Given the description of an element on the screen output the (x, y) to click on. 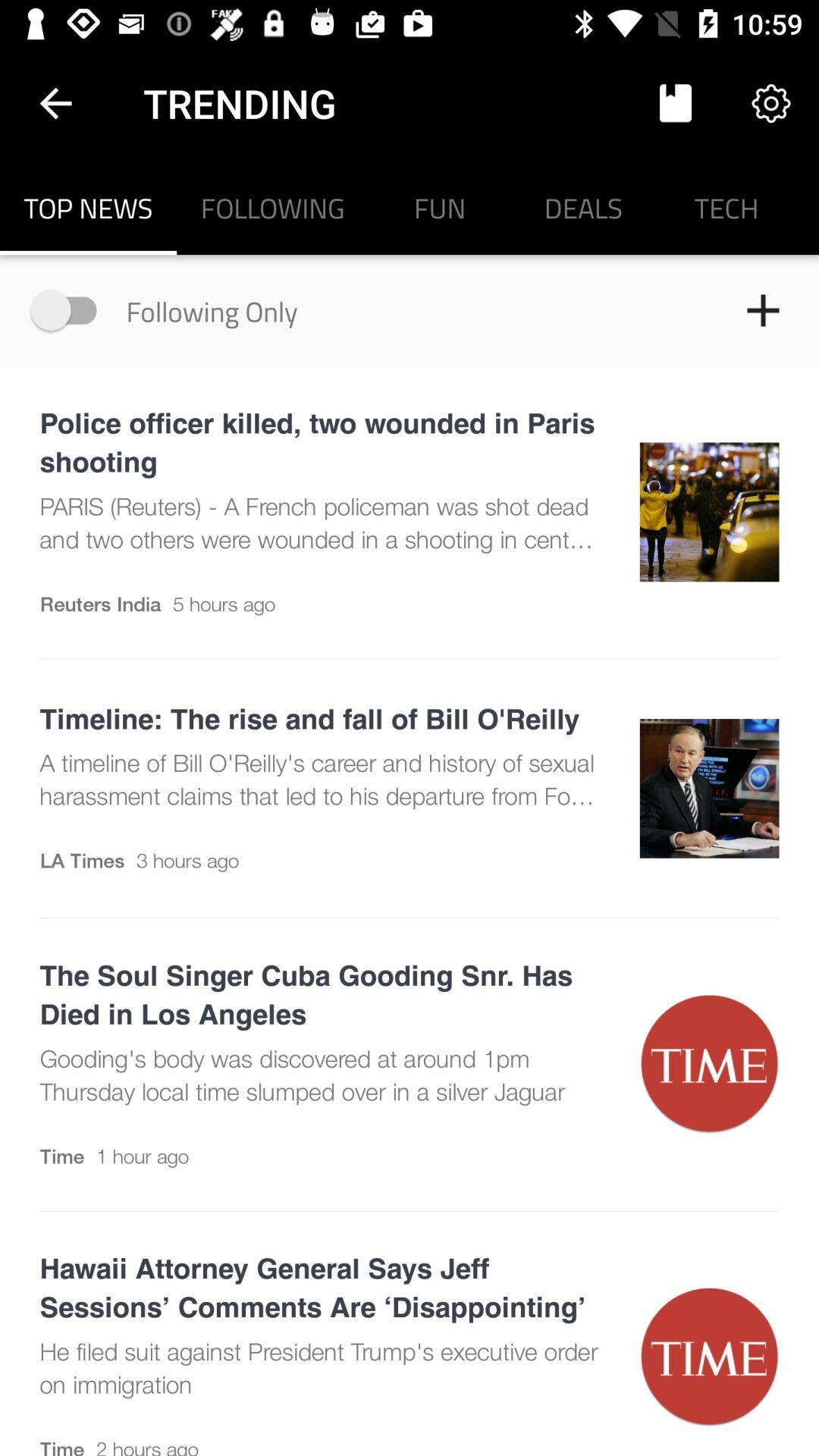
launch item above the police officer killed (70, 310)
